Given the description of an element on the screen output the (x, y) to click on. 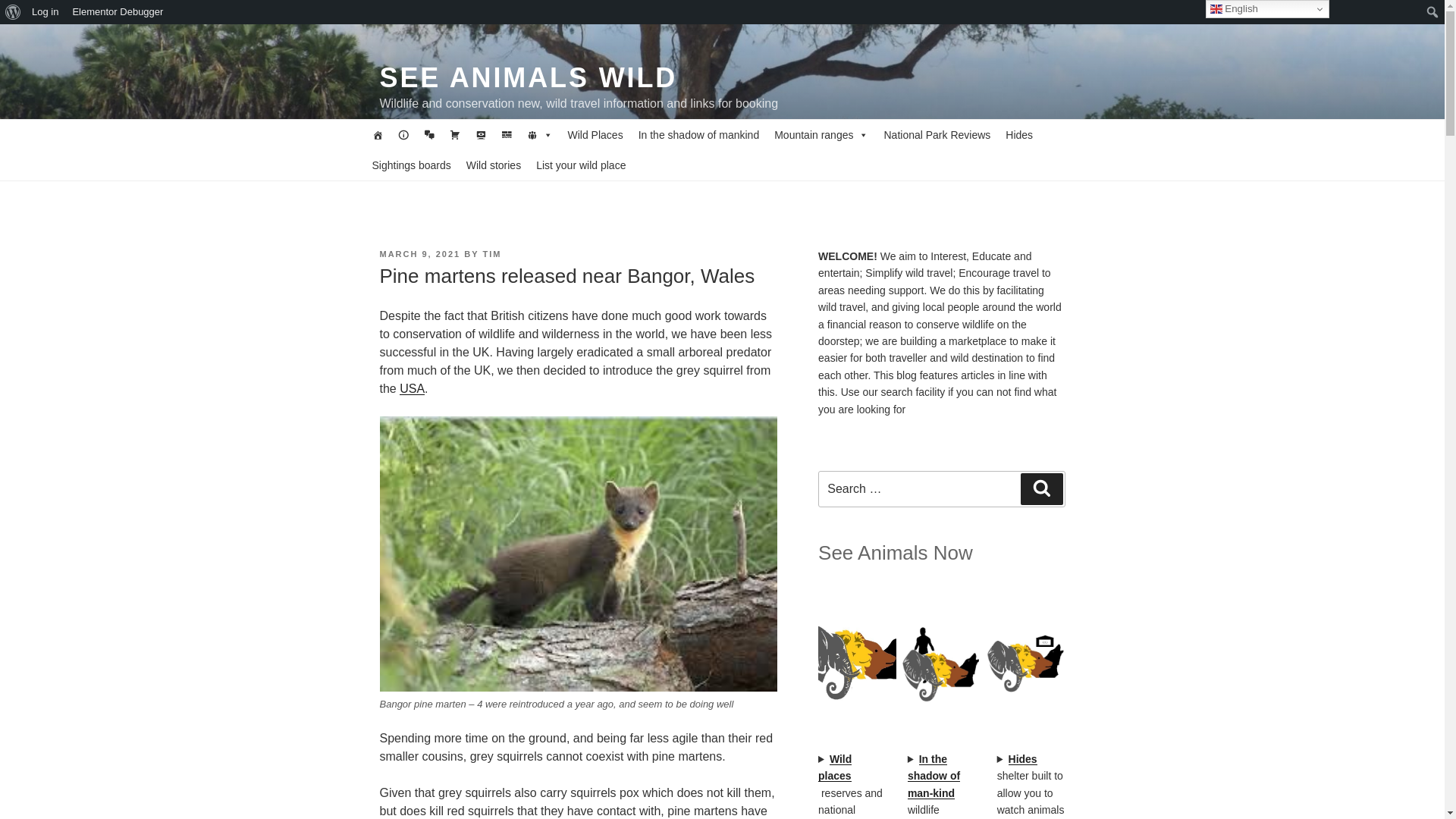
Search (15, 12)
SEE ANIMALS WILD (527, 77)
In the shadow of mankind (698, 134)
Log in (45, 12)
Wild Places (594, 134)
Mountain ranges (821, 134)
USA (411, 388)
Hides (1019, 134)
National Park Reviews (936, 134)
Sightings boards (411, 164)
